Given the description of an element on the screen output the (x, y) to click on. 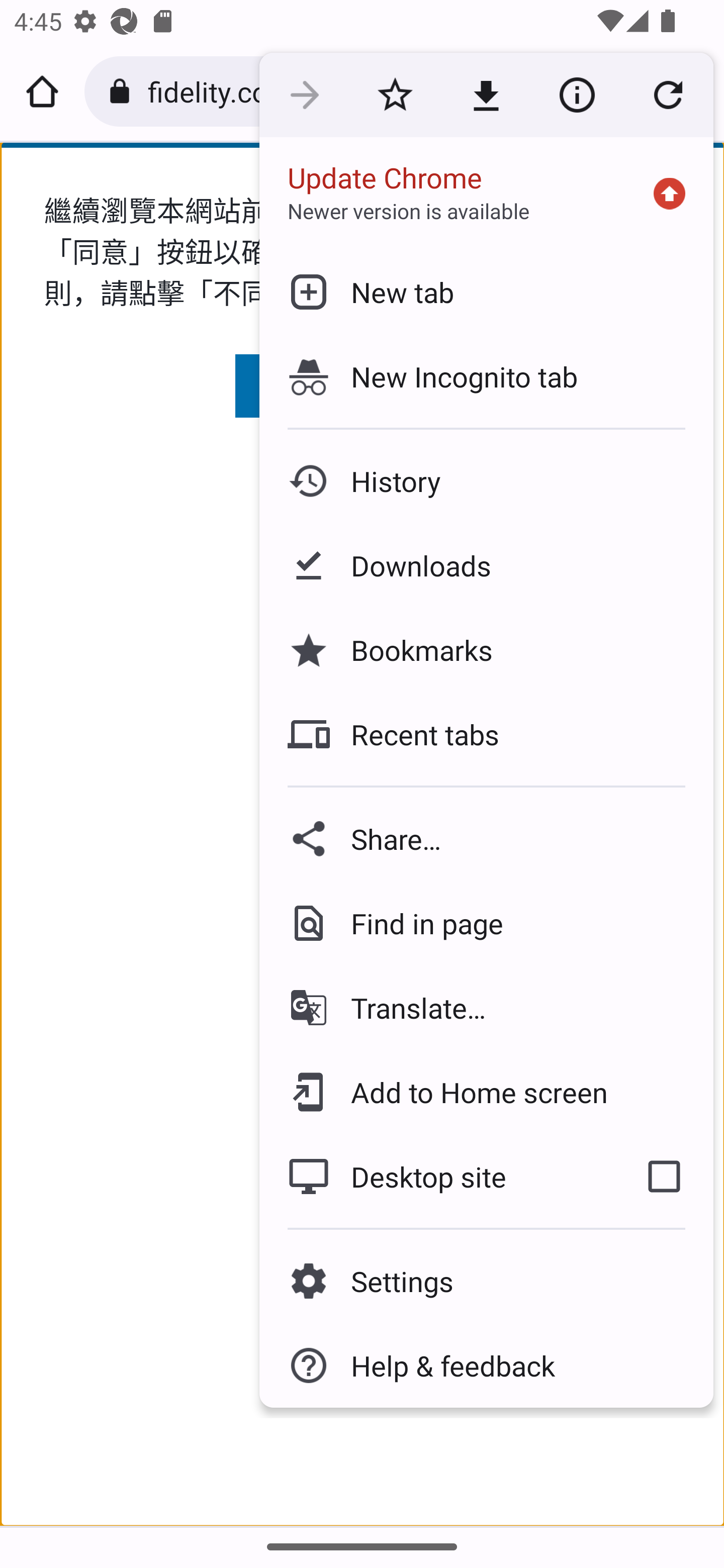
Forward (304, 95)
Bookmark (394, 95)
Download (485, 95)
Page info (576, 95)
Refresh (667, 95)
New tab (486, 291)
New Incognito tab (486, 375)
History (486, 481)
Downloads (486, 565)
Bookmarks (486, 649)
Recent tabs (486, 733)
Share… (486, 838)
Find in page (486, 923)
Translate… (486, 1007)
Add to Home screen (486, 1091)
Desktop site Turn on Request desktop site (436, 1175)
Settings (486, 1280)
Help & feedback (486, 1365)
